Given the description of an element on the screen output the (x, y) to click on. 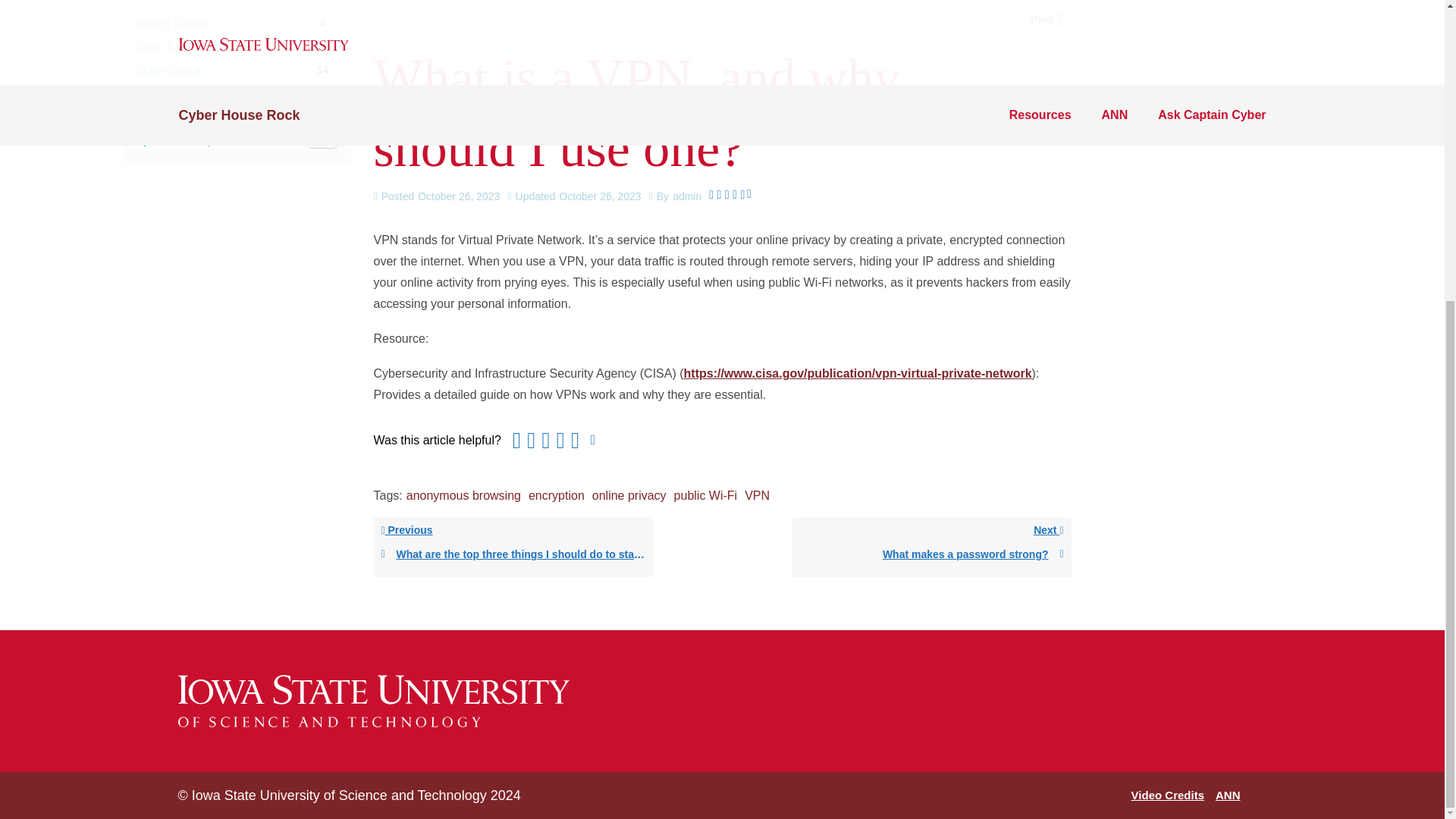
ANN (1227, 794)
Video Credits (931, 546)
encryption (1167, 794)
VPN (236, 93)
online privacy (236, 23)
What makes a password strong? (556, 495)
public Wi-Fi (757, 495)
